Given the description of an element on the screen output the (x, y) to click on. 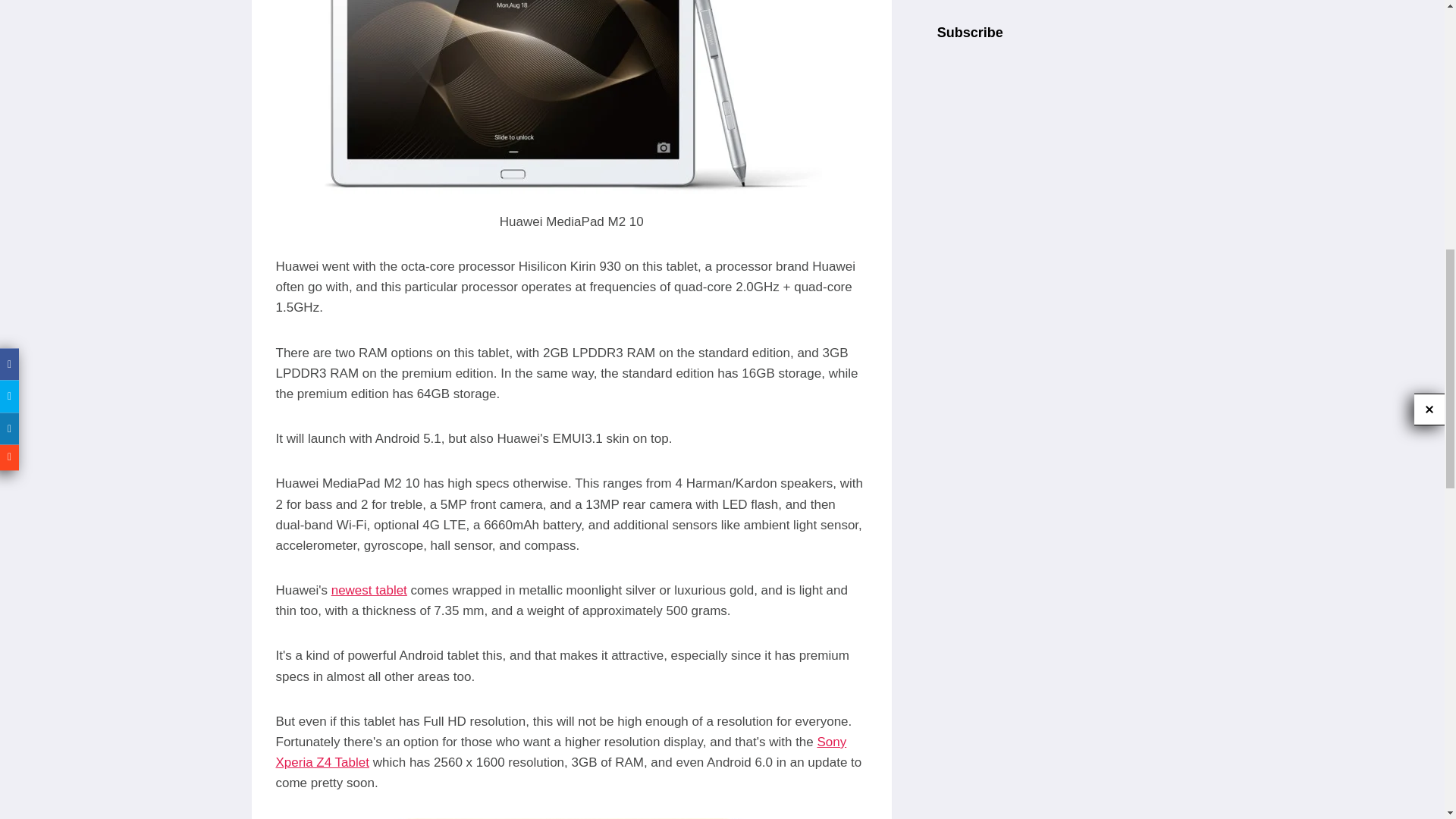
newest tablet (369, 590)
Sony Xperia Z4 Tablet (561, 751)
newest tablet (369, 590)
